Given the description of an element on the screen output the (x, y) to click on. 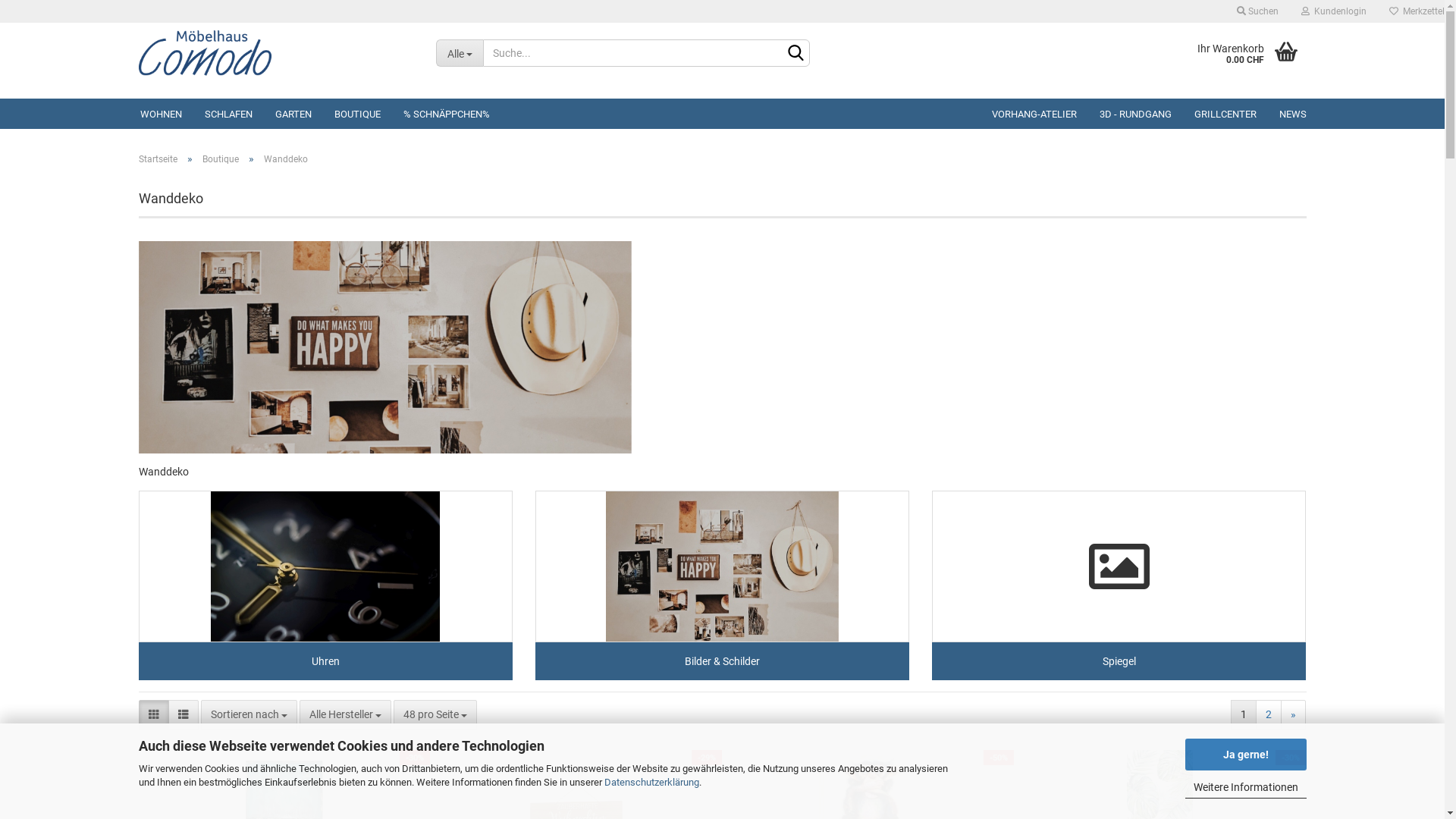
3D - RUNDGANG Element type: text (1134, 113)
Ja gerne! Element type: text (1244, 754)
Sortieren nach Element type: text (248, 714)
Bilder & Schilder Element type: text (722, 585)
Wanddeko Element type: hover (384, 347)
Weitere Informationen Element type: text (1244, 787)
Boutique Element type: text (219, 158)
NEWS Element type: text (1292, 113)
48 pro Seite Element type: text (434, 714)
Spiegel Element type: text (1118, 585)
VORHANG-ATELIER Element type: text (1033, 113)
 Kundenlogin Element type: text (1333, 11)
Uhren Element type: hover (324, 566)
WOHNEN Element type: text (160, 113)
GRILLCENTER Element type: text (1225, 113)
Alle Element type: text (459, 52)
Anmelden Element type: text (1250, 185)
Uhren Element type: text (324, 585)
2 Element type: text (1268, 714)
Suchen Element type: text (1257, 11)
Startseite Element type: text (157, 158)
BOUTIQUE Element type: text (357, 113)
Ihr Warenkorb
0.00 CHF Element type: text (1218, 52)
GARTEN Element type: text (293, 113)
comodo-moebel.ch Element type: hover (275, 52)
Alle Hersteller Element type: text (344, 714)
SCHLAFEN Element type: text (227, 113)
Bilder & Schilder Element type: hover (721, 566)
